Given the description of an element on the screen output the (x, y) to click on. 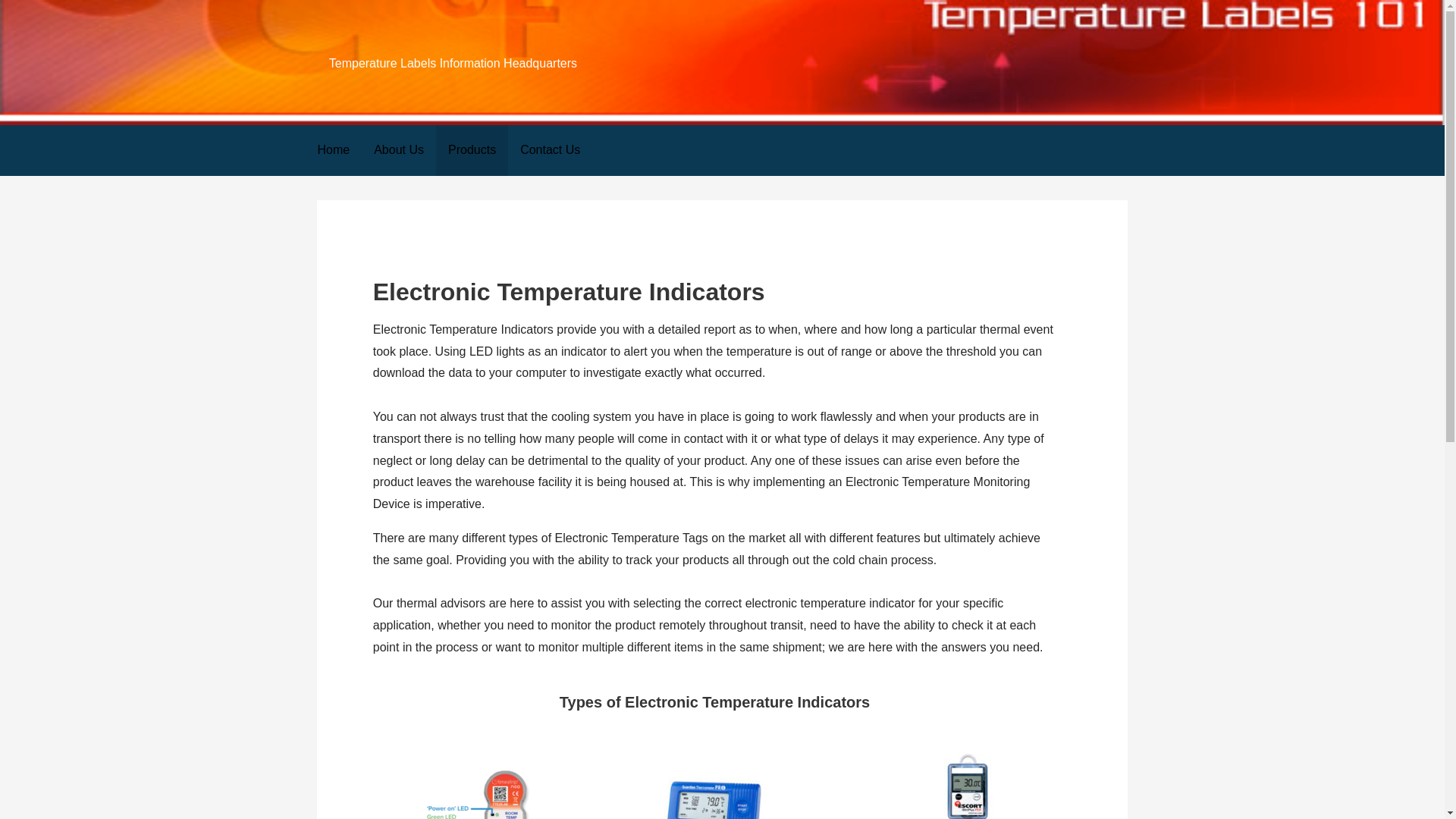
About Us (398, 150)
Products (471, 150)
Home (332, 150)
Contact Us (550, 150)
